Given the description of an element on the screen output the (x, y) to click on. 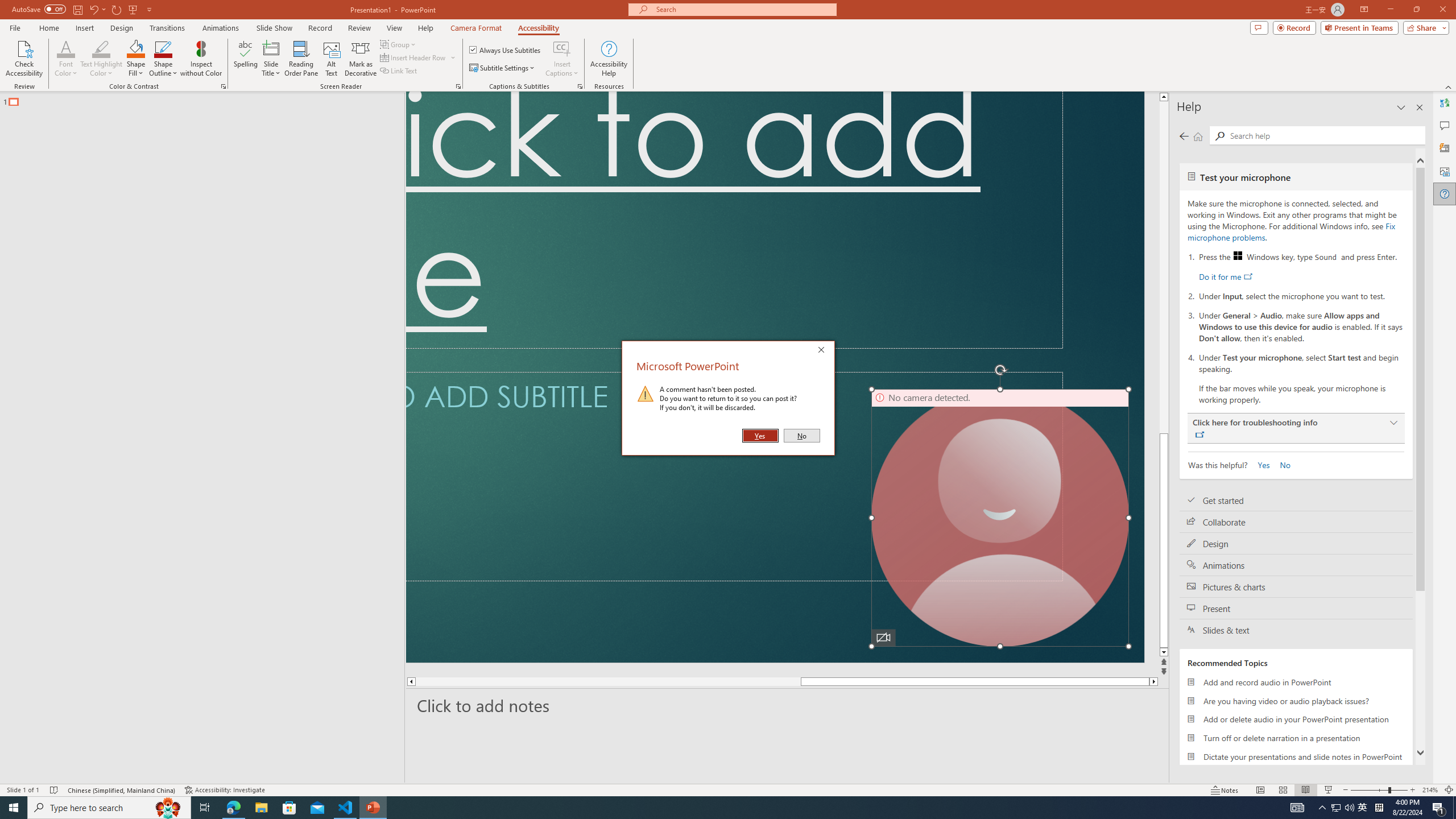
Pictures & charts (1295, 586)
Group (398, 44)
Reading Order Pane (301, 58)
Yes (1260, 464)
Captions & Subtitles (580, 85)
